Given the description of an element on the screen output the (x, y) to click on. 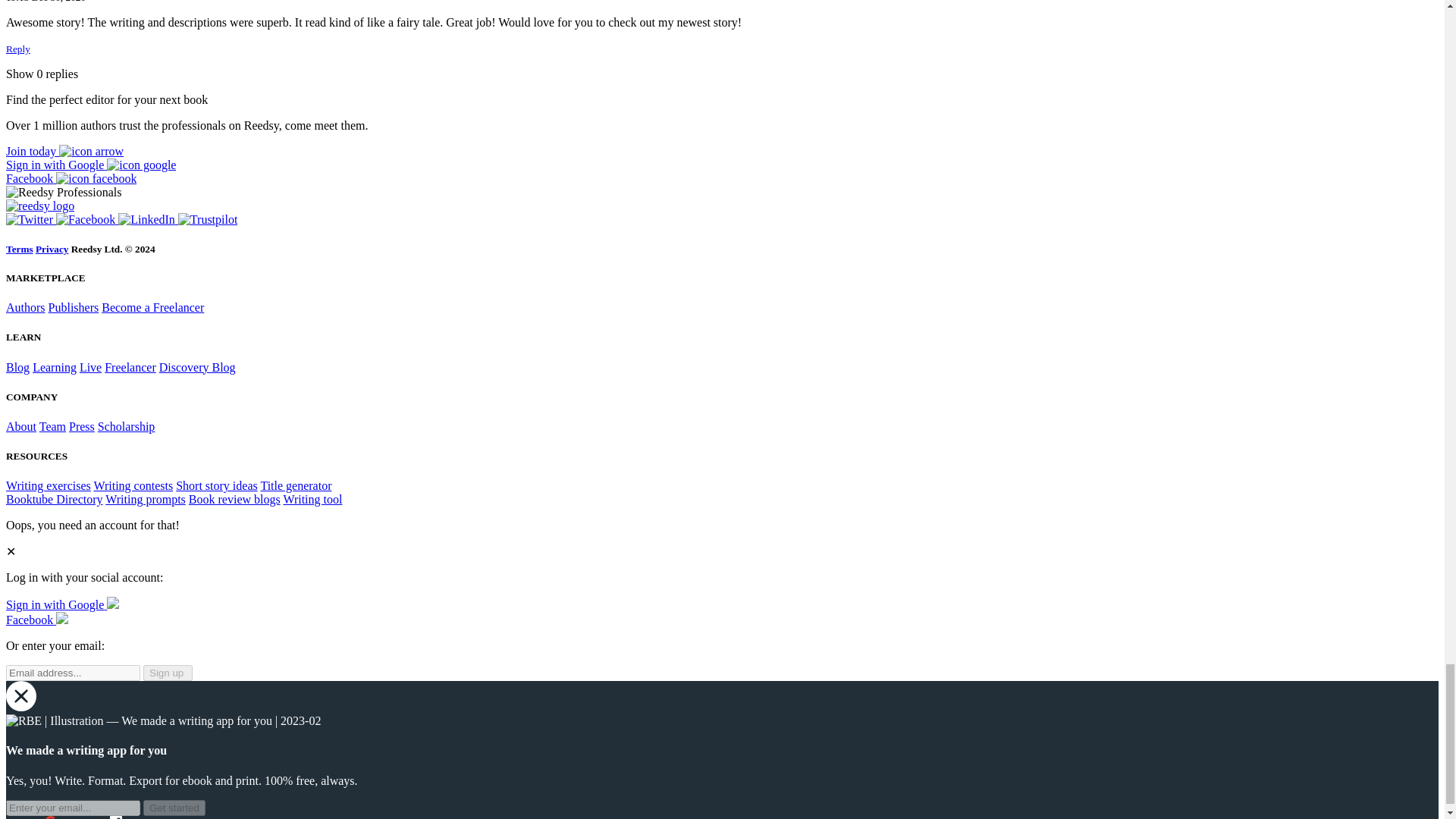
Get started (173, 807)
Sign in with Google (90, 164)
Sign in with Google (62, 604)
Sign up (64, 151)
Sign up  (167, 672)
Facebook (86, 219)
Trustpilot (207, 219)
LinkedIn (147, 219)
Sign in with Facebook (70, 178)
Sign in with Facebook (36, 619)
